Given the description of an element on the screen output the (x, y) to click on. 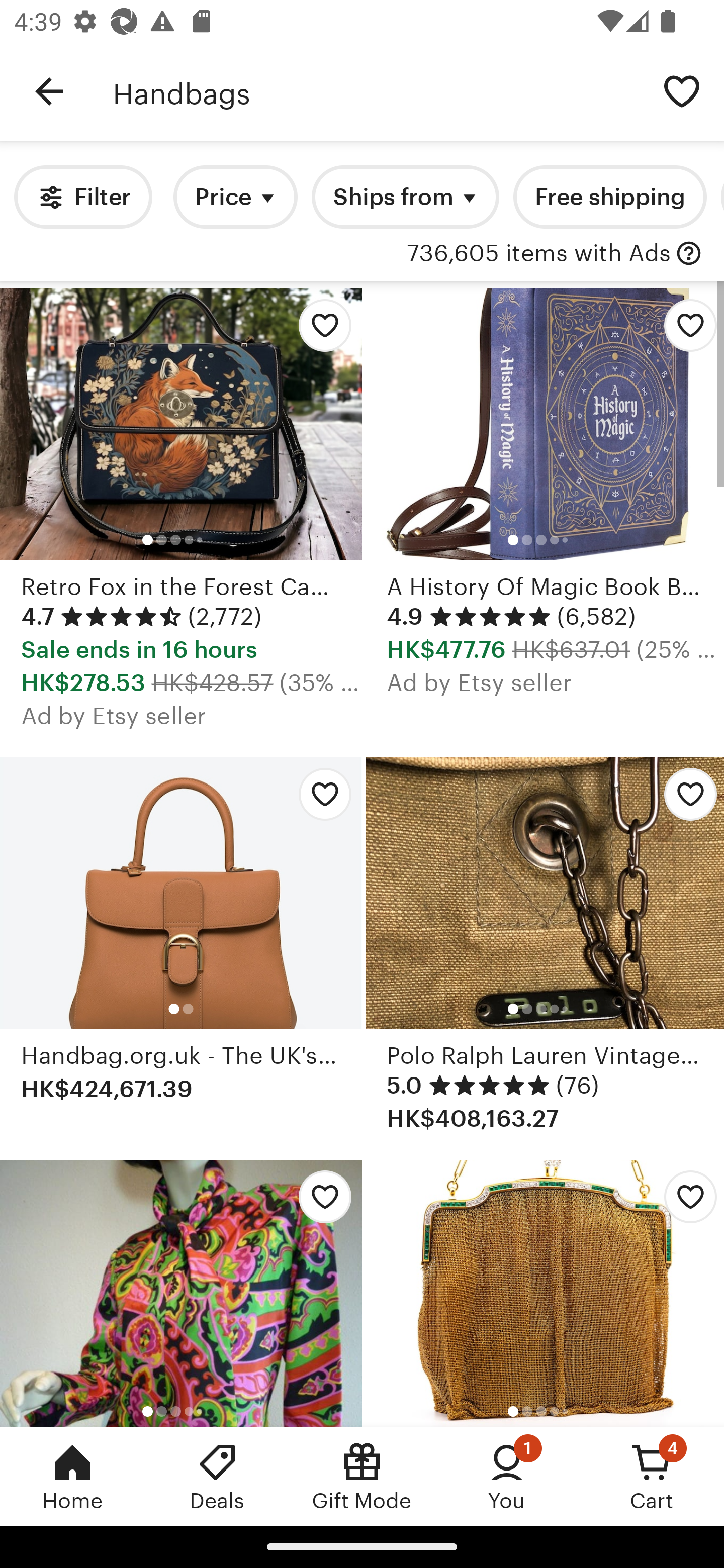
Navigate up (49, 91)
Save search (681, 90)
Handbags (375, 91)
Filter (82, 197)
Price (235, 197)
Ships from (405, 197)
Free shipping (609, 197)
736,605 items with Ads (538, 253)
with Ads (688, 253)
Deals (216, 1475)
Gift Mode (361, 1475)
You, 1 new notification You (506, 1475)
Cart, 4 new notifications Cart (651, 1475)
